Given the description of an element on the screen output the (x, y) to click on. 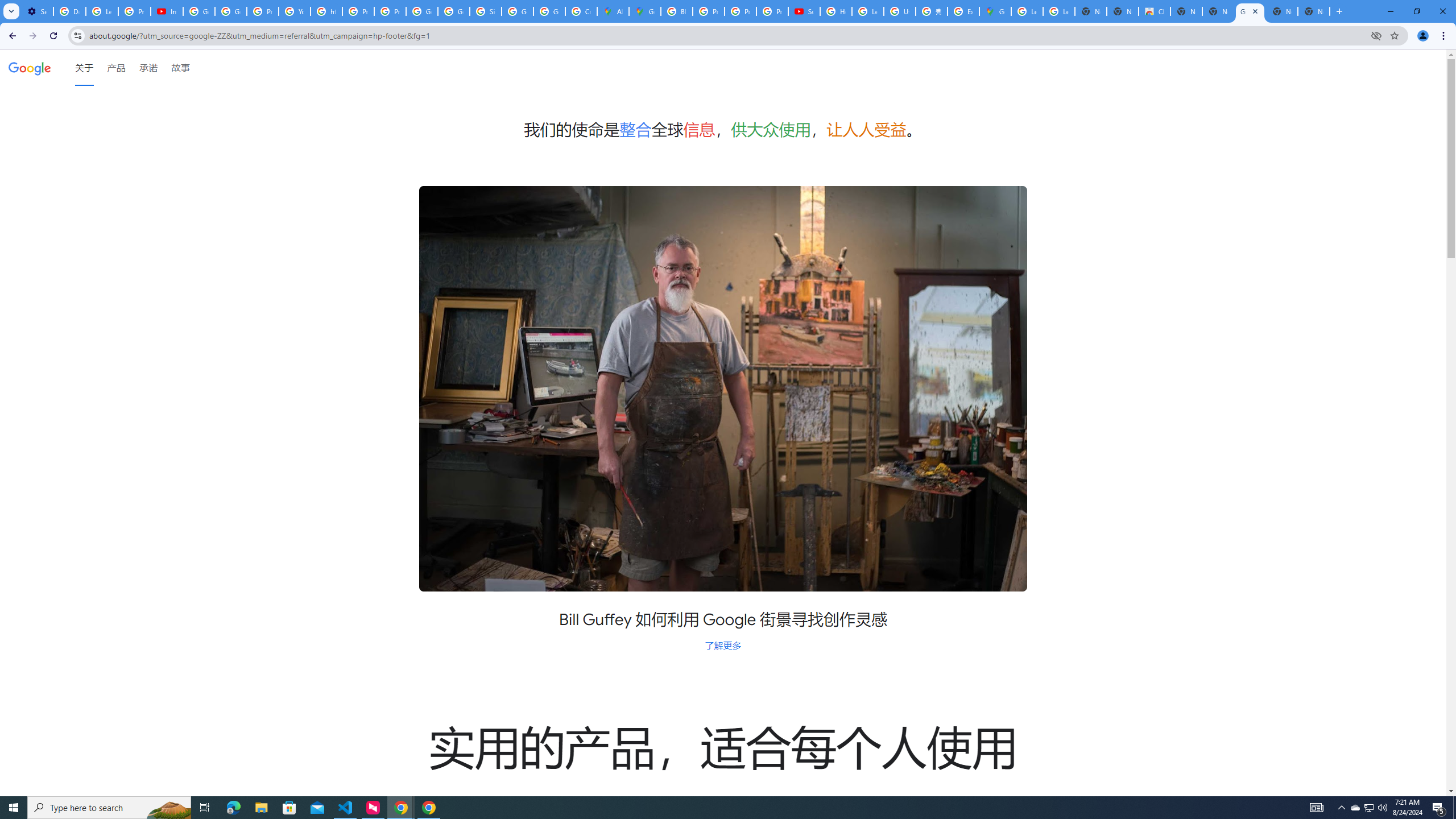
Learn how to find your photos - Google Photos Help (101, 11)
Chrome Web Store (1154, 11)
YouTube (294, 11)
New Tab (1313, 11)
Privacy Help Center - Policies Help (708, 11)
Introduction | Google Privacy Policy - YouTube (166, 11)
